Given the description of an element on the screen output the (x, y) to click on. 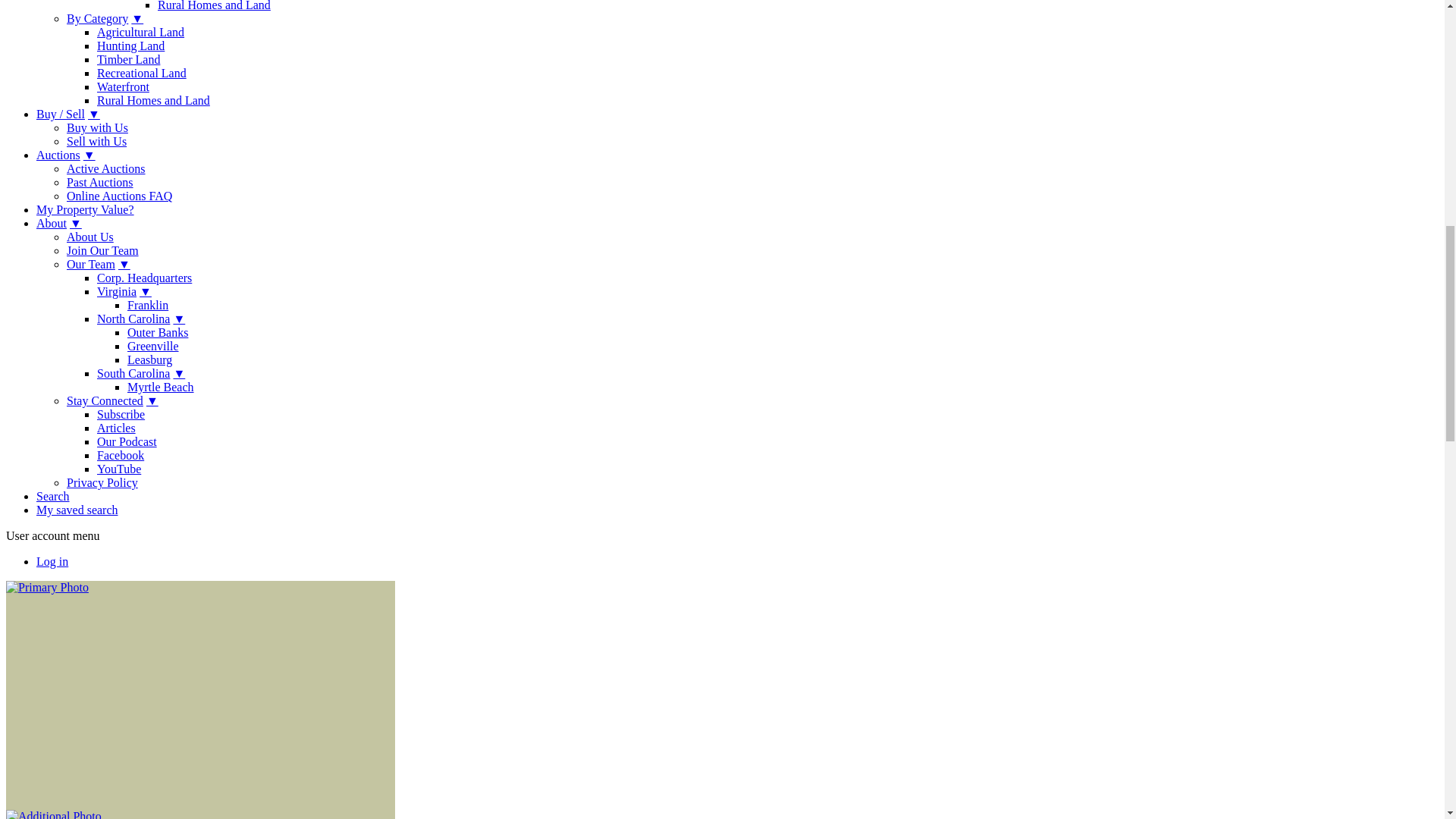
Auctions Site (105, 168)
Past Auctions (99, 182)
